Given the description of an element on the screen output the (x, y) to click on. 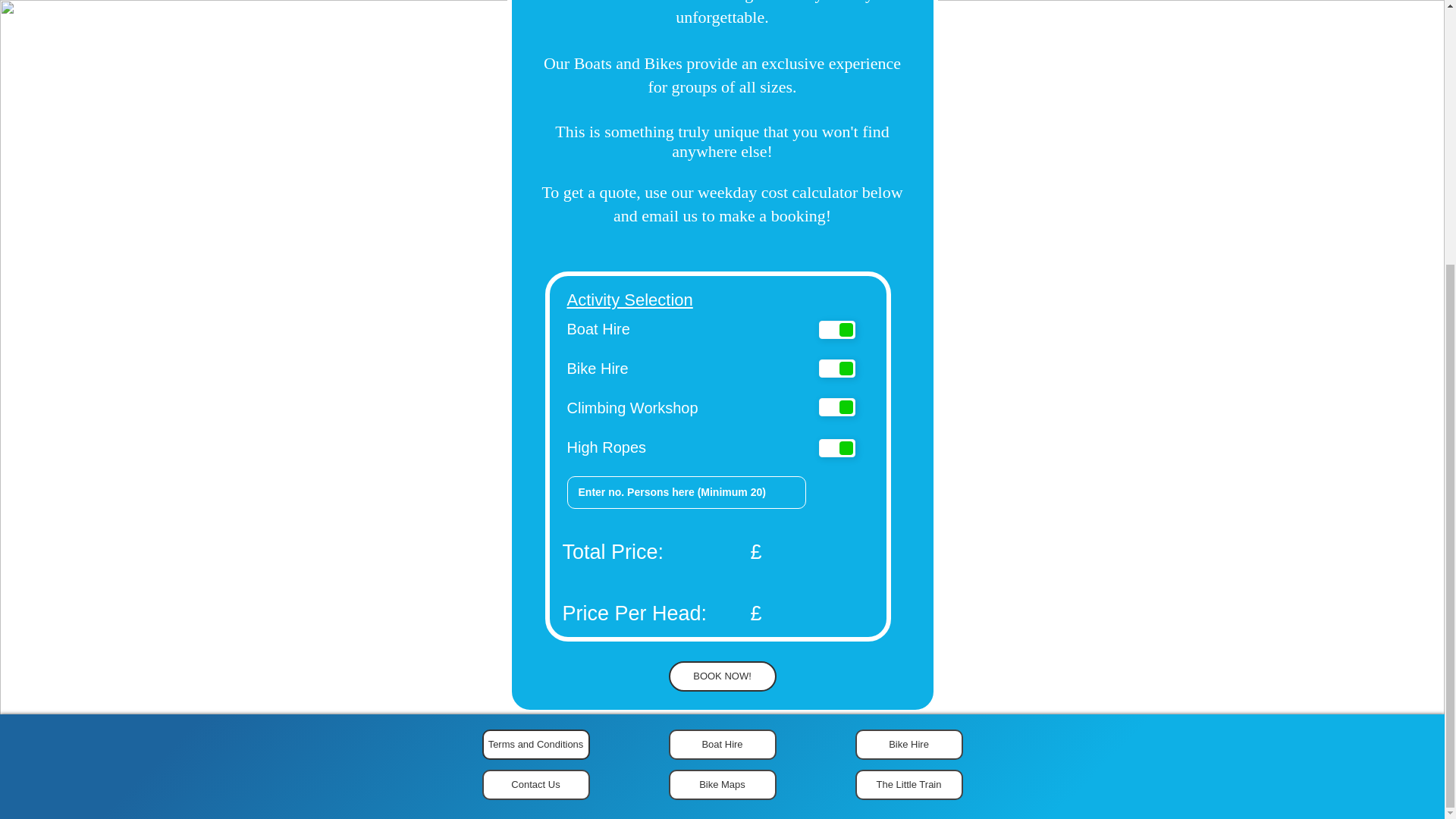
BOOK NOW! (722, 675)
Bike Maps (722, 784)
The Little Train (909, 784)
Boat Hire (722, 744)
Contact Us (535, 784)
Terms and Conditions (535, 744)
Bike Hire (909, 744)
